Given the description of an element on the screen output the (x, y) to click on. 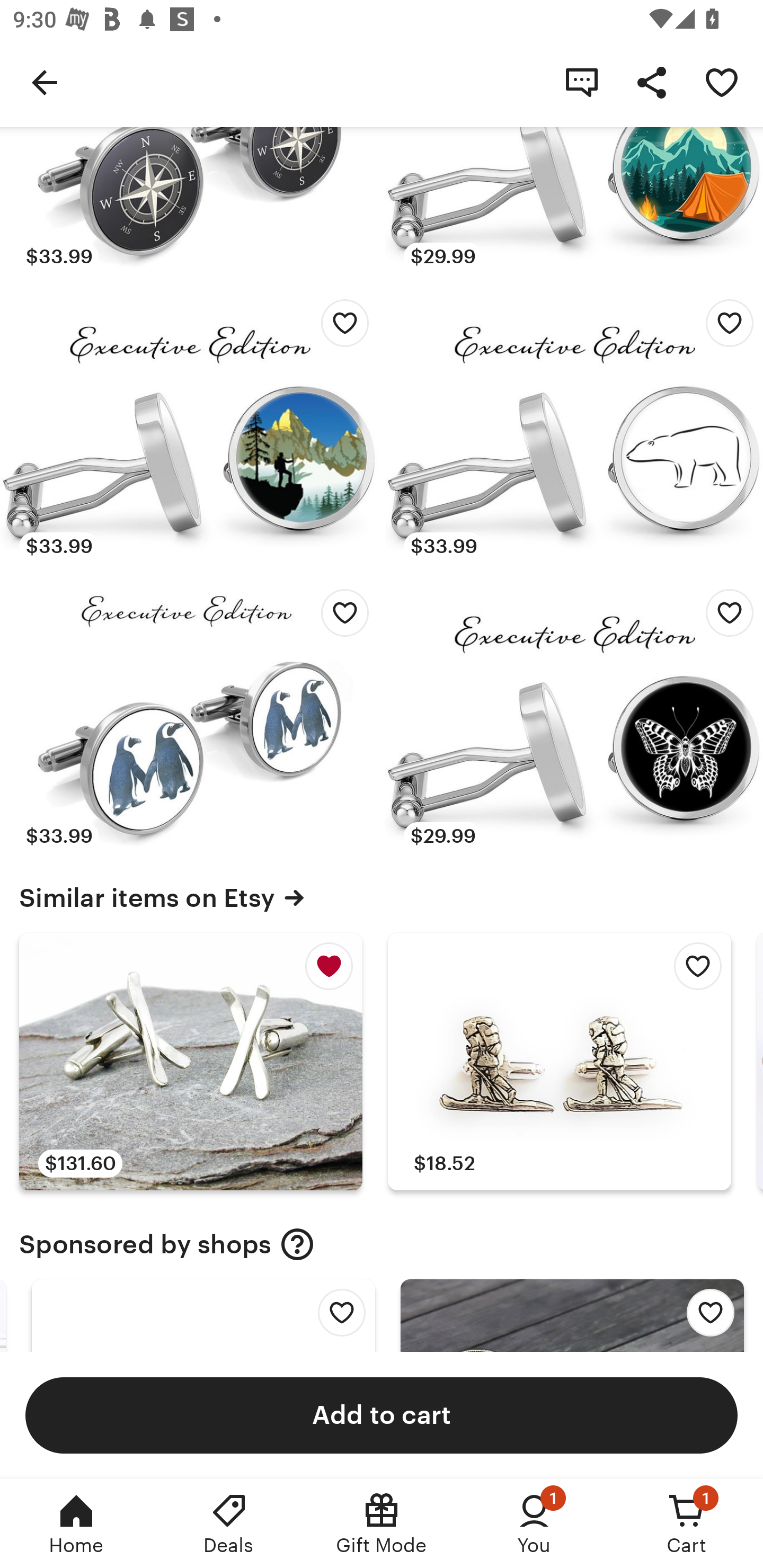
Navigate up (44, 81)
Contact shop (581, 81)
Share (651, 81)
Similar items on Etsy  (381, 897)
Sponsored by shops Sponsored by shops About (381, 1243)
Add to cart (381, 1414)
Deals (228, 1523)
Gift Mode (381, 1523)
You, 1 new notification You (533, 1523)
Cart, 1 new notification Cart (686, 1523)
